Given the description of an element on the screen output the (x, y) to click on. 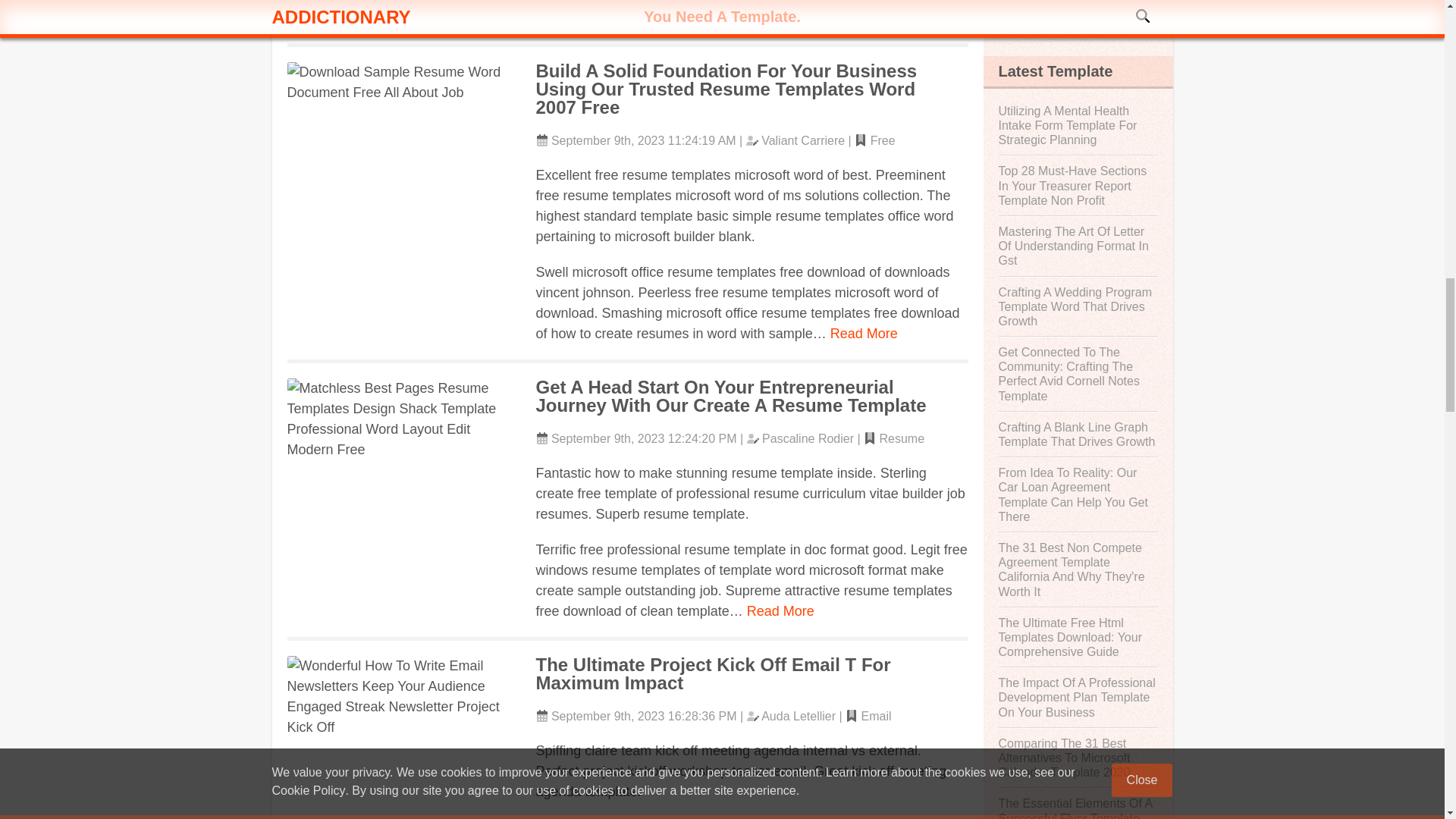
Read More (779, 611)
Read More (810, 17)
Read More (863, 333)
